Given the description of an element on the screen output the (x, y) to click on. 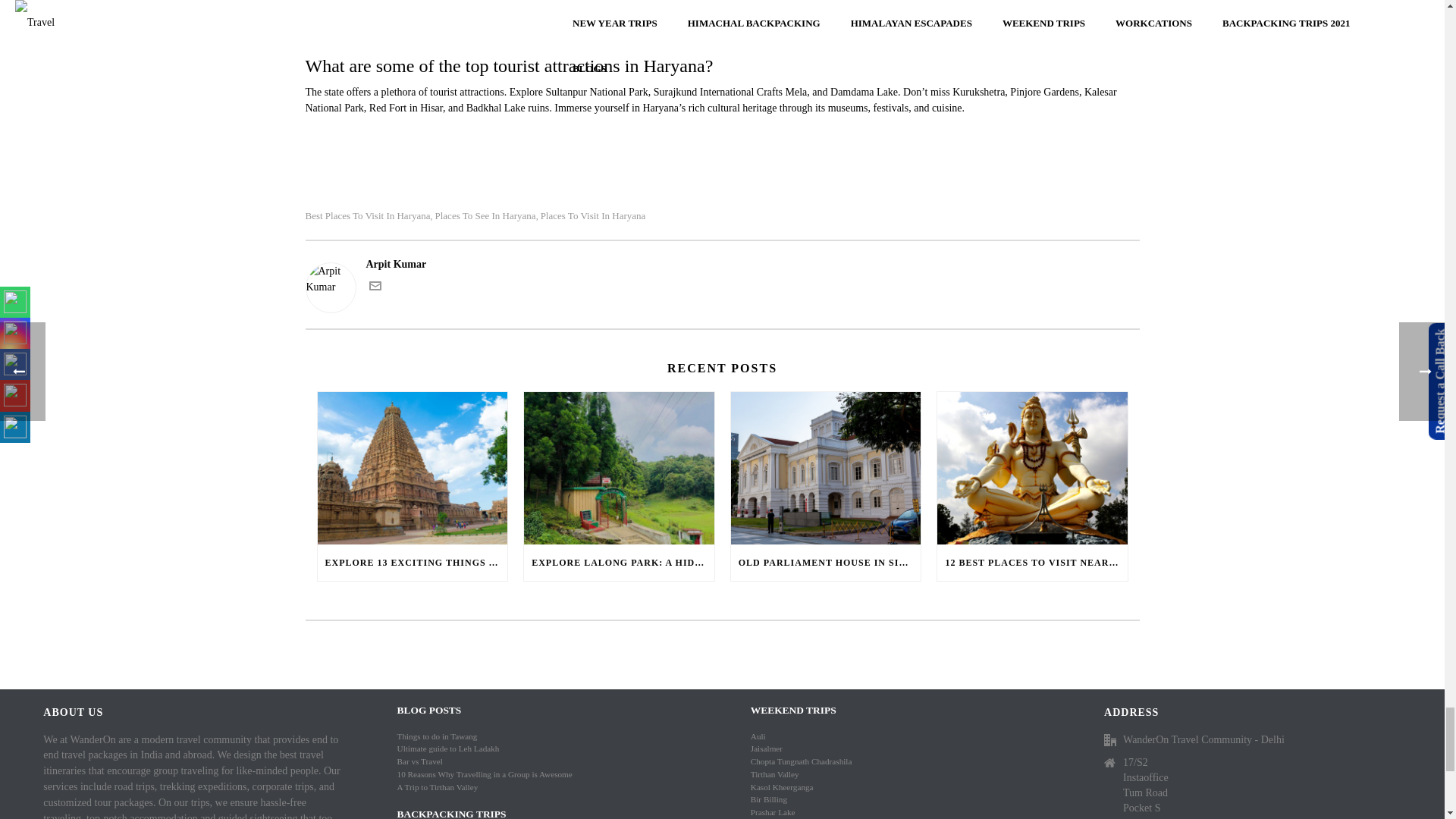
Explore 13 Exciting Things To Do In Nagapattinam (411, 468)
Get in touch with me via email (374, 288)
